Given the description of an element on the screen output the (x, y) to click on. 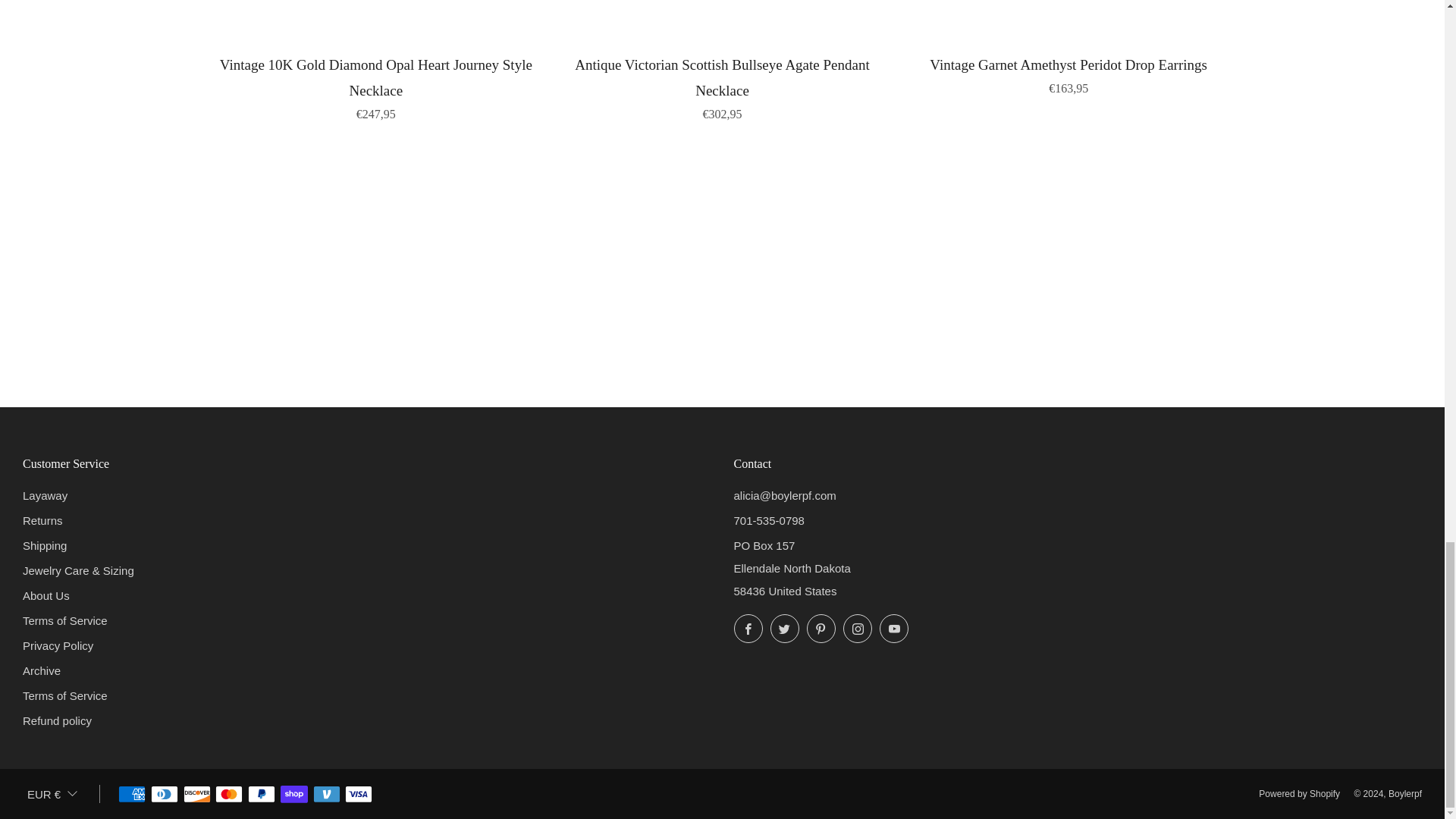
Vintage 10K Gold Diamond Opal Heart Journey Style Necklace (376, 86)
Vintage Garnet Amethyst Peridot Drop Earrings (1068, 73)
Antique Victorian Scottish Bullseye Agate Pendant Necklace (721, 86)
